Given the description of an element on the screen output the (x, y) to click on. 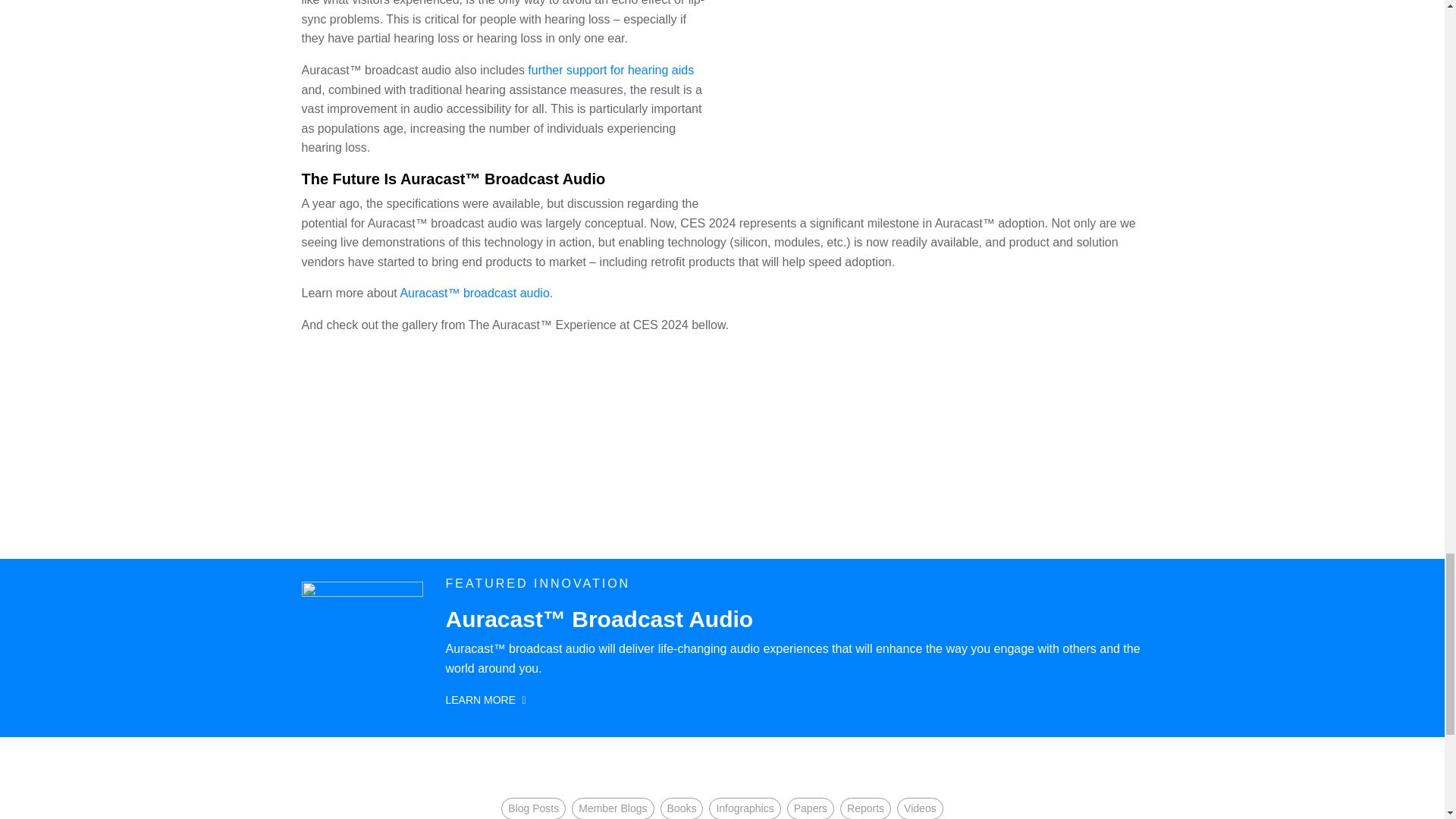
AX6A8952 (932, 96)
